Given the description of an element on the screen output the (x, y) to click on. 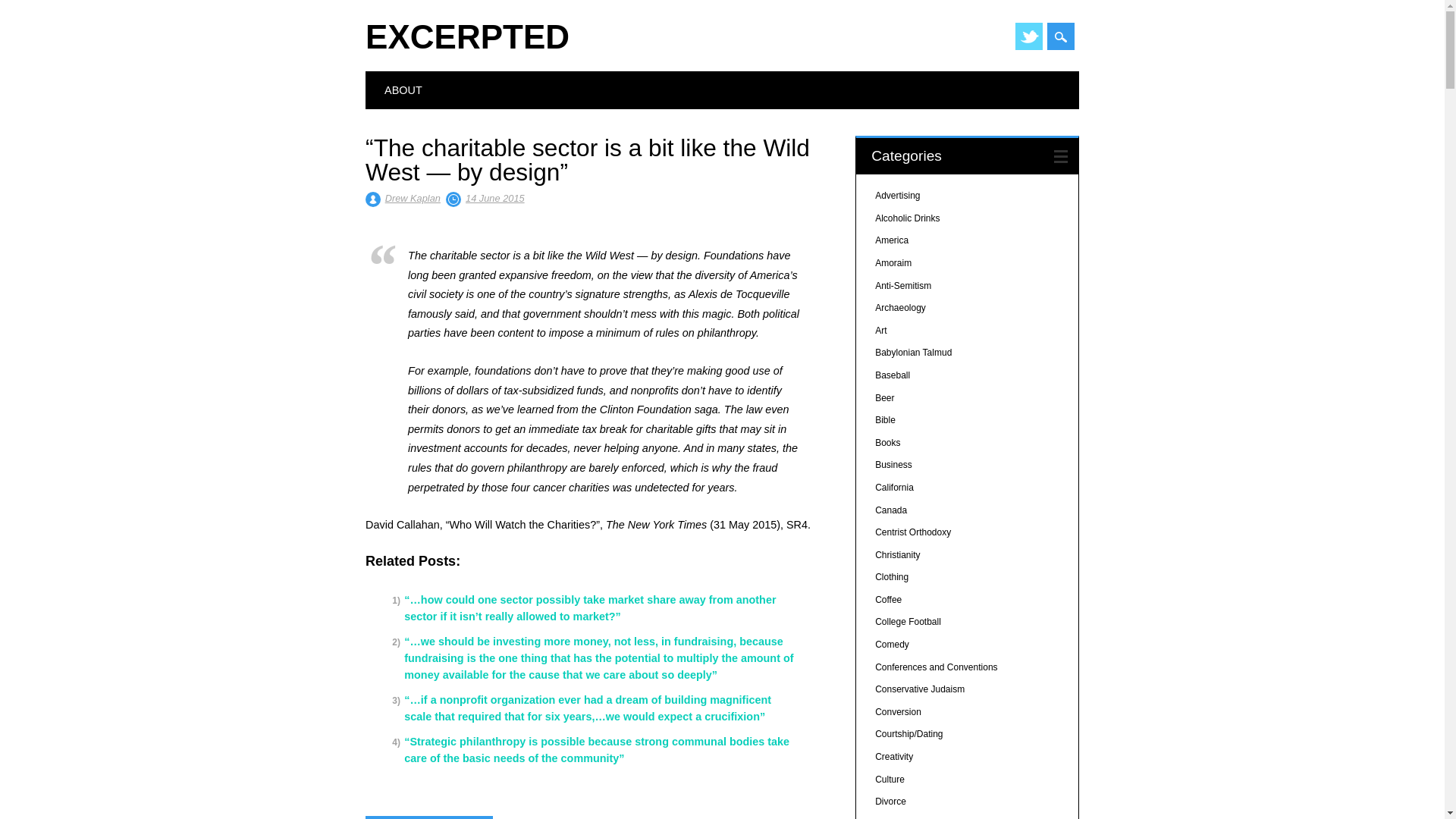
Bible (885, 419)
Anti-Semitism (903, 285)
Drew Kaplan (413, 197)
Canada (891, 510)
College Football (907, 621)
Excerpted (467, 36)
14 June 2015 (494, 197)
Centrist Orthodoxy (912, 532)
Business (893, 464)
Amoraim (893, 262)
Christianity (897, 554)
Advertising (897, 195)
View all posts by Drew Kaplan (413, 197)
Alcoholic Drinks (907, 217)
Coffee (888, 599)
